Given the description of an element on the screen output the (x, y) to click on. 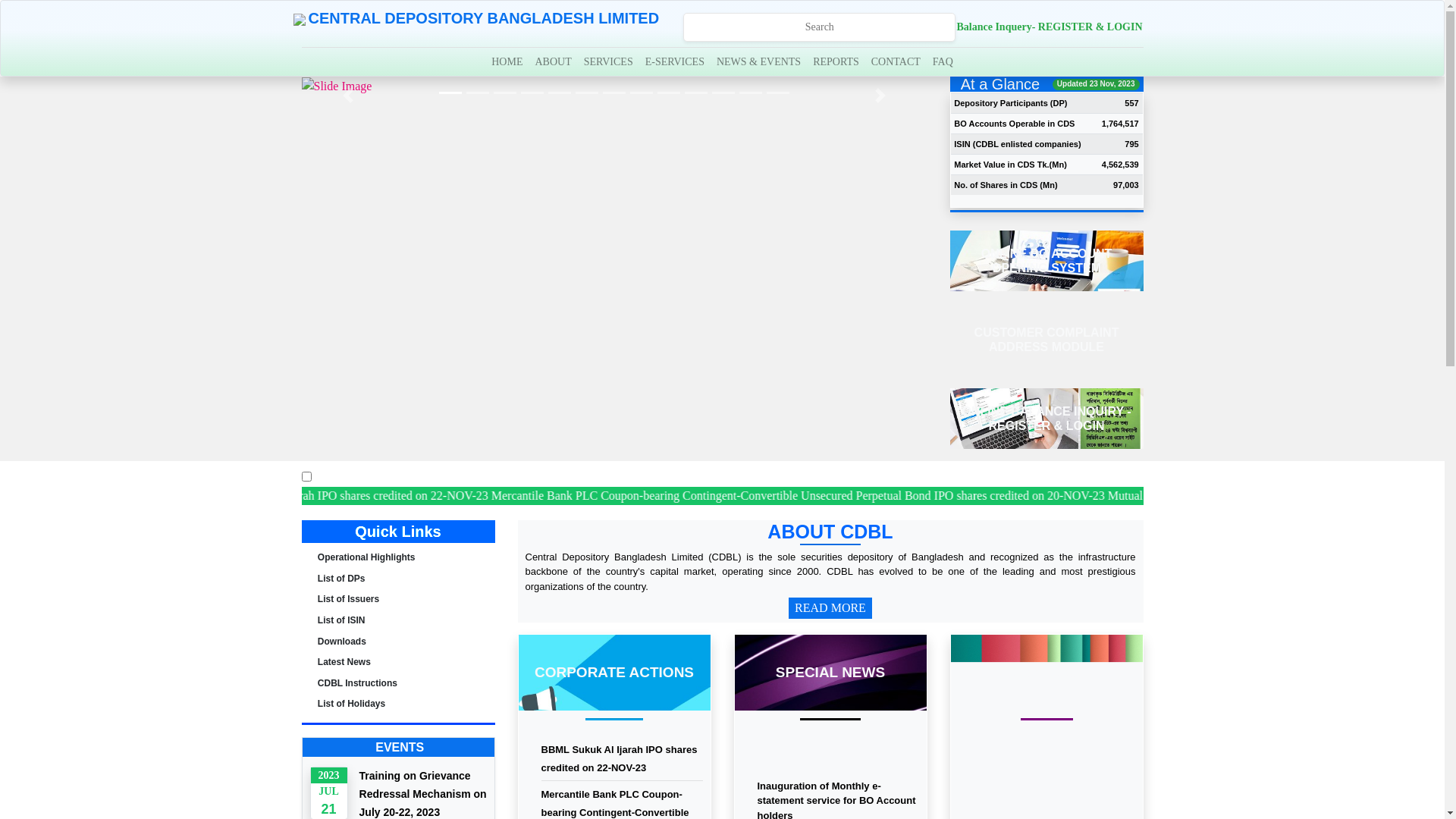
E-SERVICES Element type: text (674, 61)
ISIN (CDBL enlisted companies) Element type: text (1016, 143)
BO Accounts Operable in CDS Element type: text (1013, 123)
BBML Sukuk Al Ijarah IPO shares credited on 22-NOV-23 Element type: text (619, 758)
List of Issuers Element type: text (348, 598)
ABOUT Element type: text (552, 61)
Previous Element type: text (348, 94)
Latest News Element type: text (343, 661)
Operational Highlights Element type: text (366, 557)
Market Value in CDS Tk.(Mn) Element type: text (1009, 164)
READ MORE Element type: text (830, 607)
CENTRAL DEPOSITORY BANGLADESH LIMITED Element type: text (477, 26)
Balance Inquery- REGISTER & LOGIN Element type: text (1049, 26)
REPORTS Element type: text (835, 61)
ONLINE BALANCE INQUIRY - REGISTER & LOGIN Element type: text (1045, 418)
HOME Element type: text (506, 61)
SERVICES Element type: text (608, 61)
List of Holidays Element type: text (351, 703)
Downloads Element type: text (341, 641)
ONLINE BO ACCOUNT OPENING SYSTEM Element type: text (1045, 260)
BBML Sukuk Al Ijarah IPO shares credited on 22-NOV-23 Element type: text (998, 495)
List of ISIN Element type: text (341, 620)
CDBL Instructions Element type: text (357, 682)
CONTACT Element type: text (895, 61)
No. of Shares in CDS (Mn) Element type: text (1005, 184)
List of DPs Element type: text (341, 578)
CUSTOMER COMPLAINT ADDRESS MODULE Element type: text (1045, 339)
Depository Participants (DP) Element type: text (1009, 102)
FAQ Element type: text (942, 61)
NEWS & EVENTS Element type: text (758, 61)
Next Element type: text (880, 94)
